Given the description of an element on the screen output the (x, y) to click on. 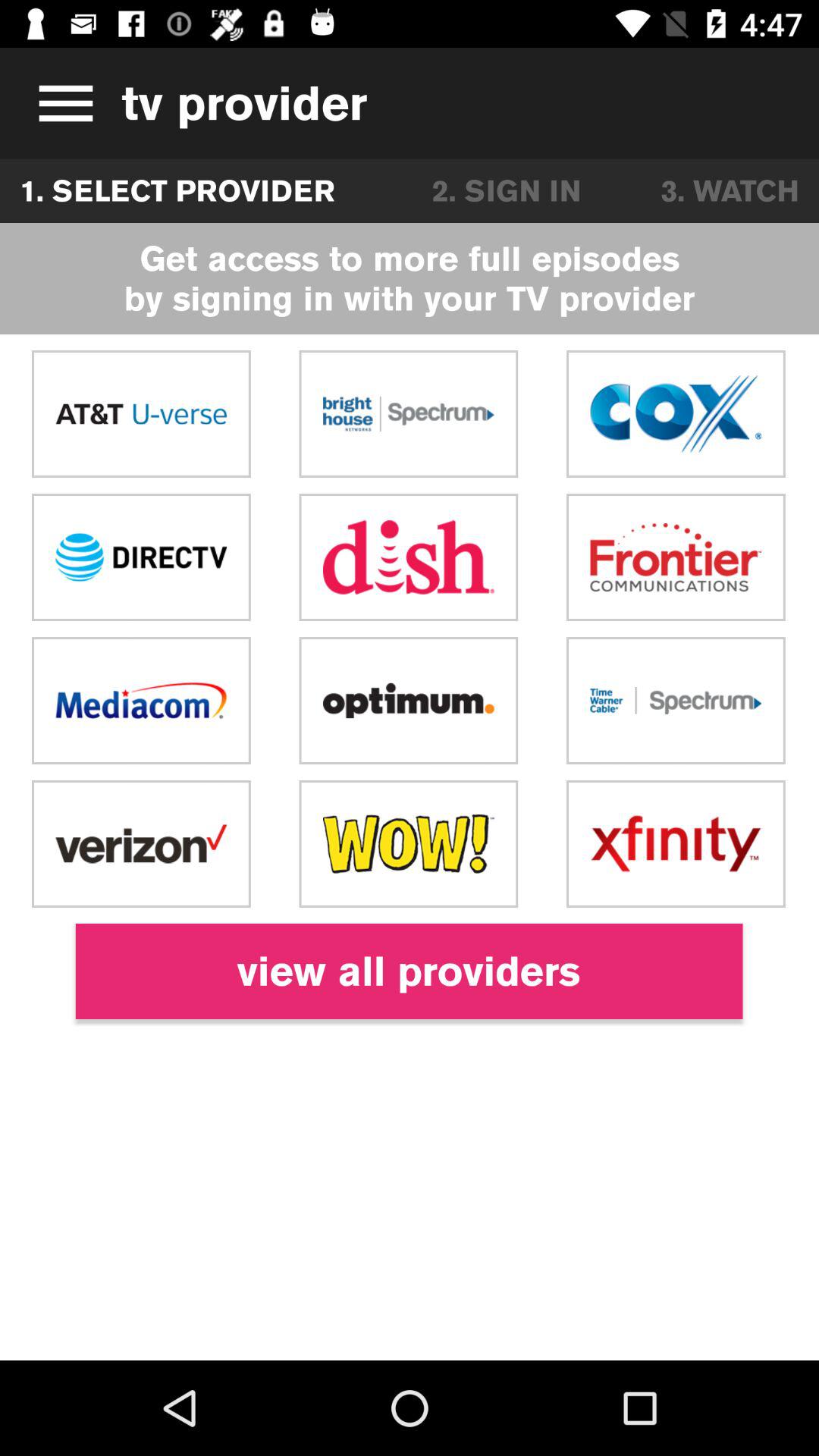
open item next to the tv provider icon (60, 103)
